Given the description of an element on the screen output the (x, y) to click on. 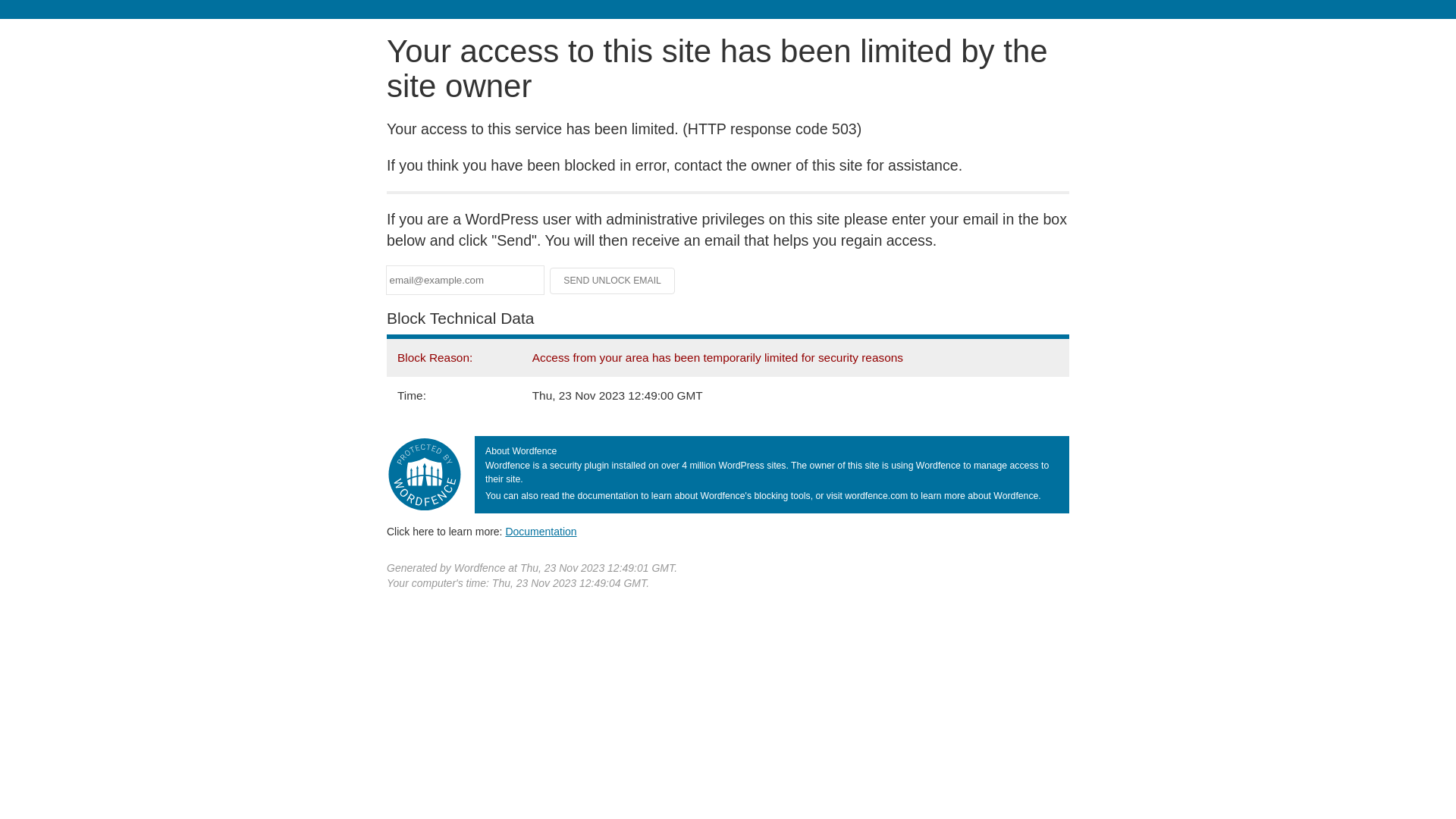
Documentation
(opens in new tab) Element type: text (540, 531)
Send Unlock Email Element type: text (612, 280)
